Given the description of an element on the screen output the (x, y) to click on. 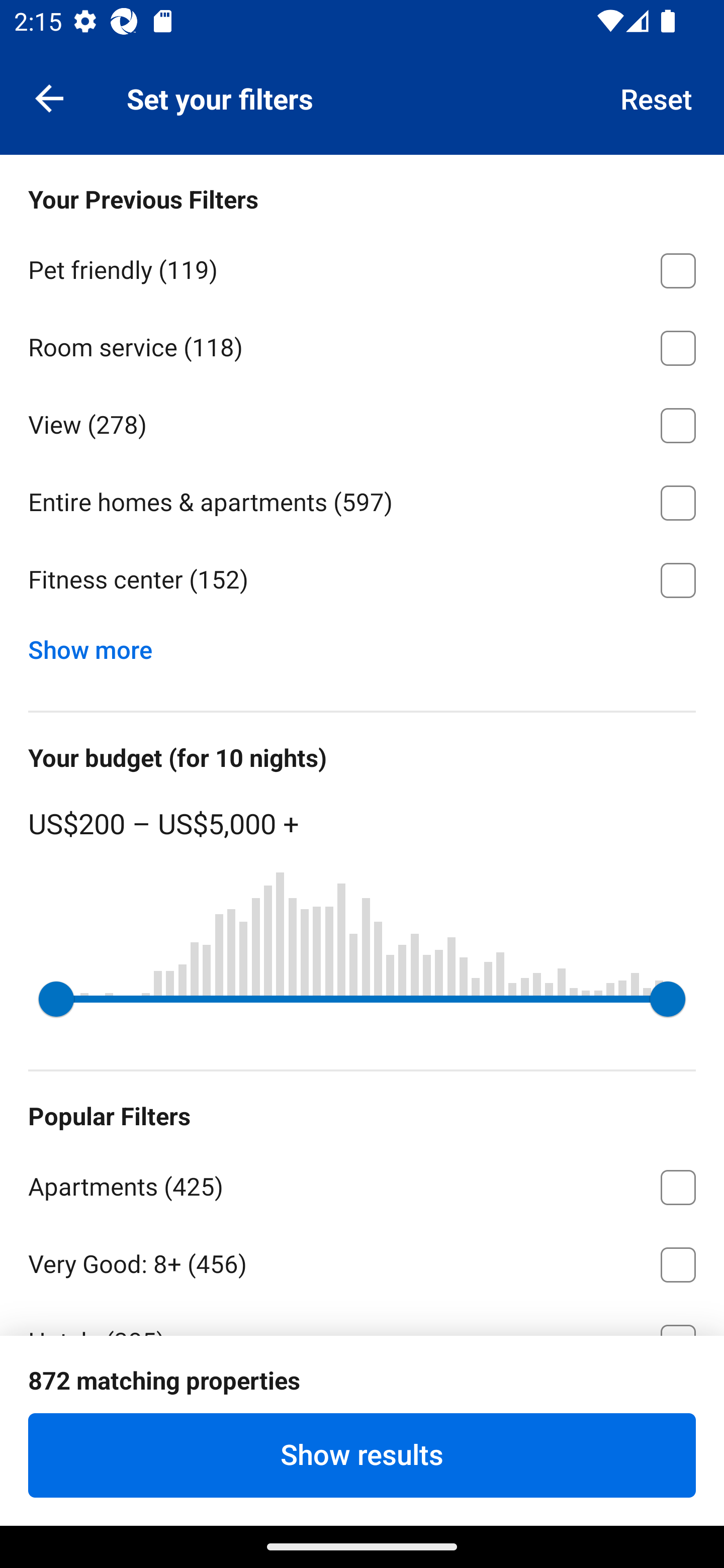
Navigate up (49, 97)
Reset (656, 97)
Pet friendly ⁦(119) (361, 266)
Room service ⁦(118) (361, 344)
View ⁦(278) (361, 422)
Entire homes & apartments ⁦(597) (361, 498)
Fitness center ⁦(152) (361, 579)
Show more (97, 645)
Apartments ⁦(425) (361, 1183)
Very Good: 8+ ⁦(456) (361, 1261)
Show results (361, 1454)
